Given the description of an element on the screen output the (x, y) to click on. 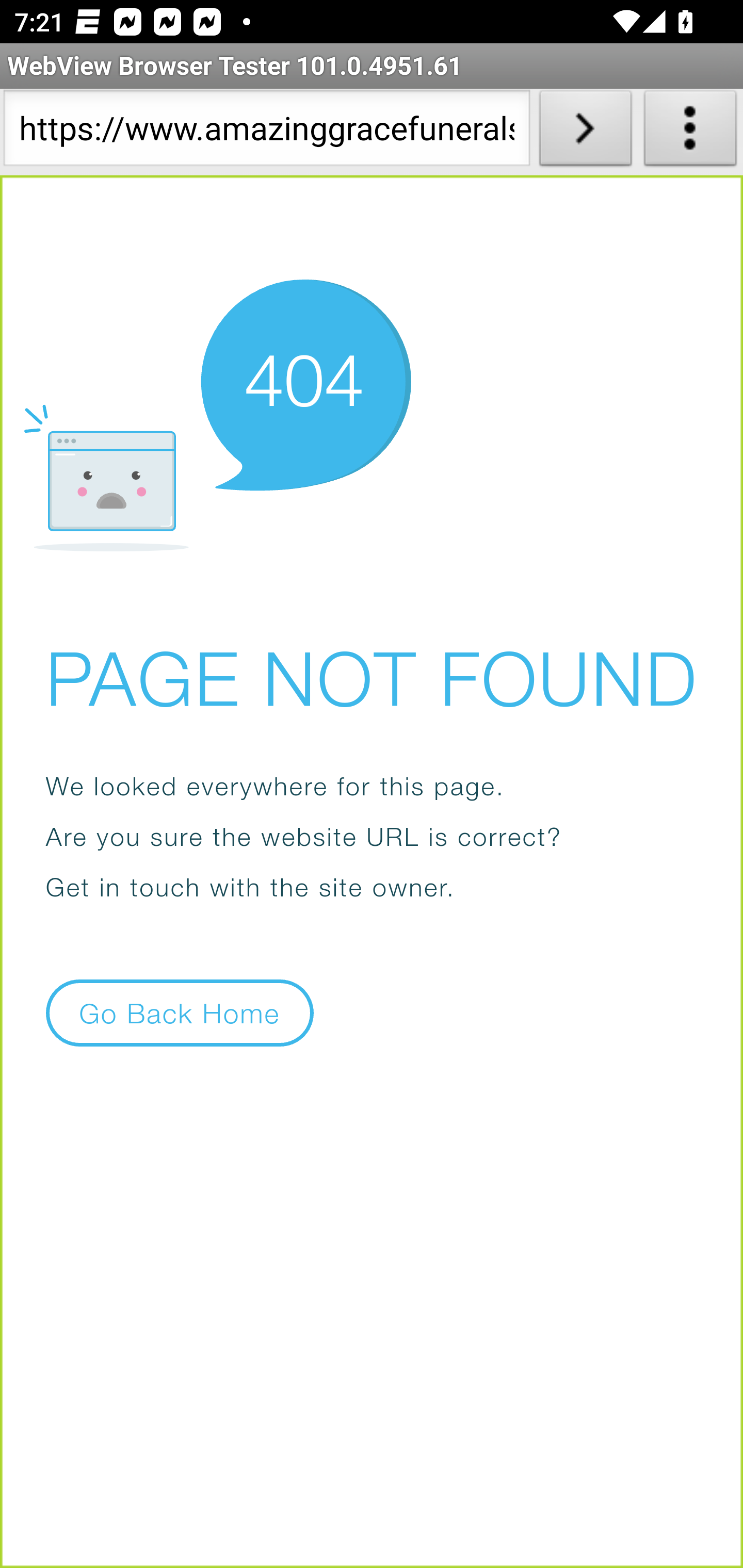
Load URL (585, 132)
About WebView (690, 132)
Go Back Home (179, 1012)
